Given the description of an element on the screen output the (x, y) to click on. 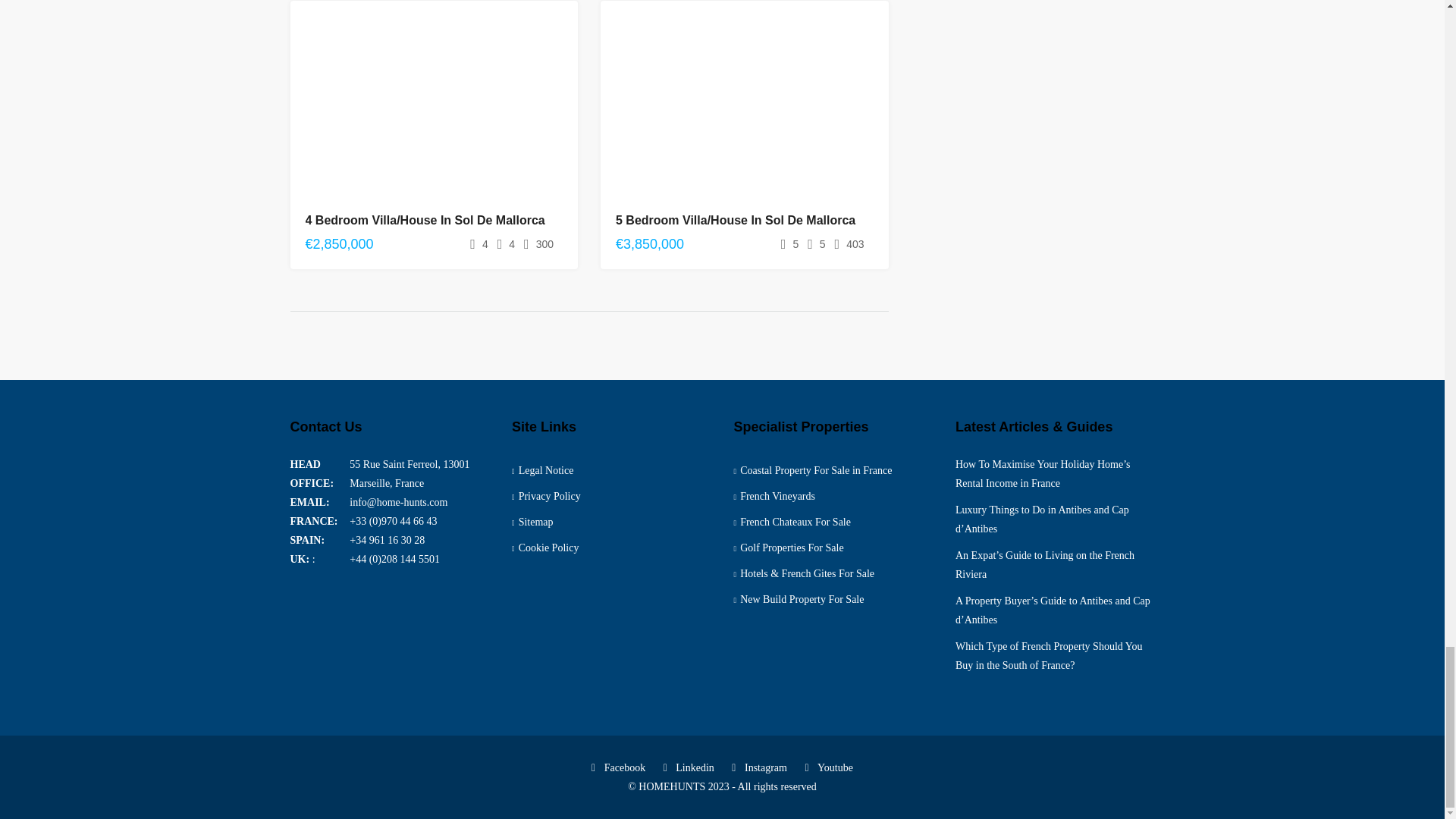
Properties 7 (433, 108)
Properties 9 (743, 108)
